Given the description of an element on the screen output the (x, y) to click on. 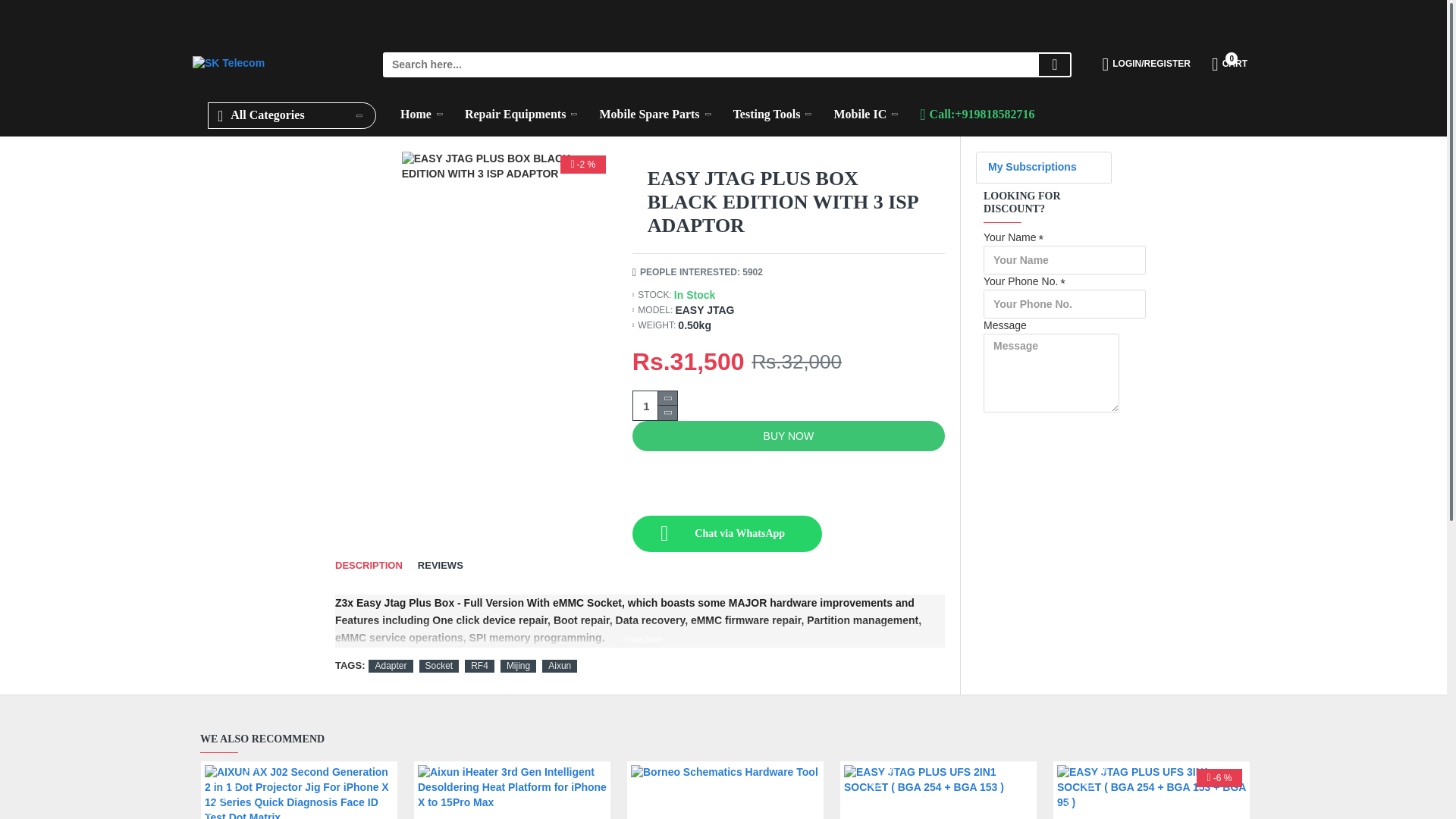
1 (655, 405)
All Categories (291, 115)
EASY JTAG PLUS BOX BLACK EDITION WITH 3 ISP ADAPTOR (505, 166)
SK Telecom (228, 64)
Borneo Schematics Hardware Tool (724, 791)
